Given the description of an element on the screen output the (x, y) to click on. 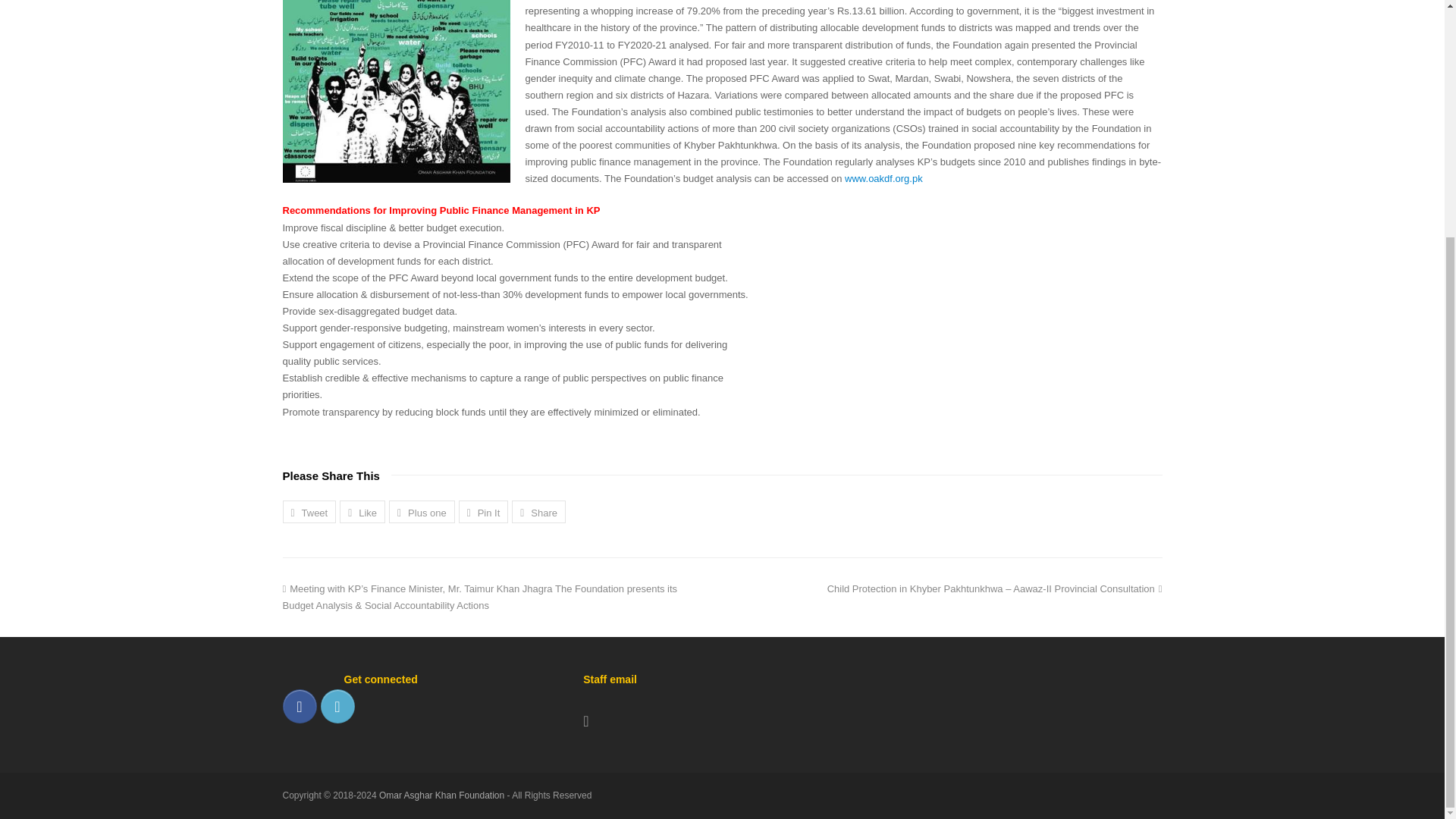
Share on LinkedIn (539, 511)
Tweet (309, 511)
Like (362, 511)
Pin It (483, 511)
Share on Pinterest (483, 511)
Twitter (336, 706)
Plus one (421, 511)
Share (539, 511)
Facebook (298, 706)
Omar Asghar Khan Foundation (442, 795)
